Given the description of an element on the screen output the (x, y) to click on. 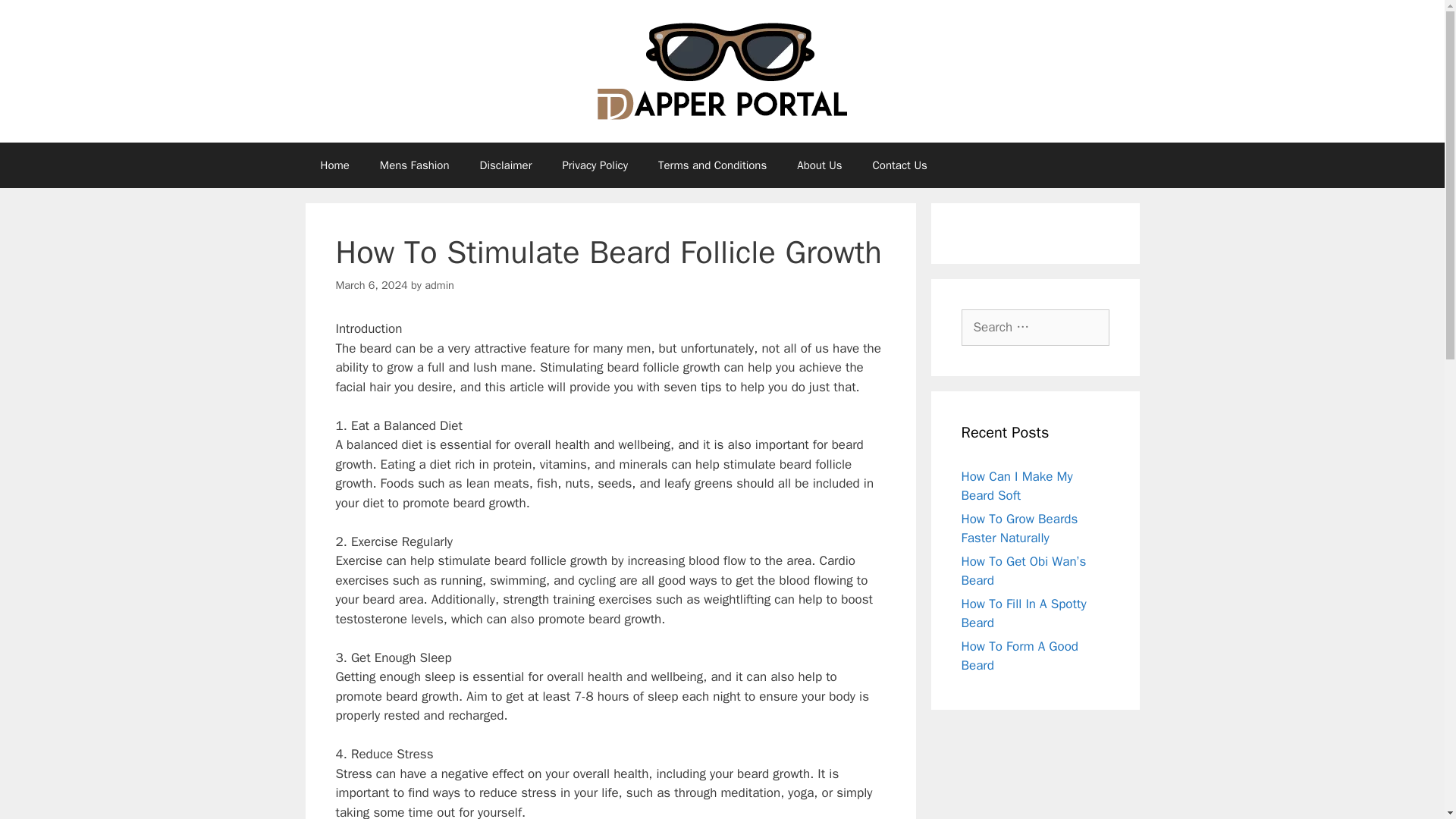
Home (334, 165)
Search for: (1034, 327)
Disclaimer (505, 165)
How To Fill In A Spotty Beard (1023, 613)
Privacy Policy (595, 165)
How To Grow Beards Faster Naturally (1019, 529)
Contact Us (899, 165)
admin (439, 284)
How Can I Make My Beard Soft (1016, 486)
View all posts by admin (439, 284)
About Us (819, 165)
Search (35, 18)
Terms and Conditions (712, 165)
How To Form A Good Beard (1019, 656)
Mens Fashion (414, 165)
